Given the description of an element on the screen output the (x, y) to click on. 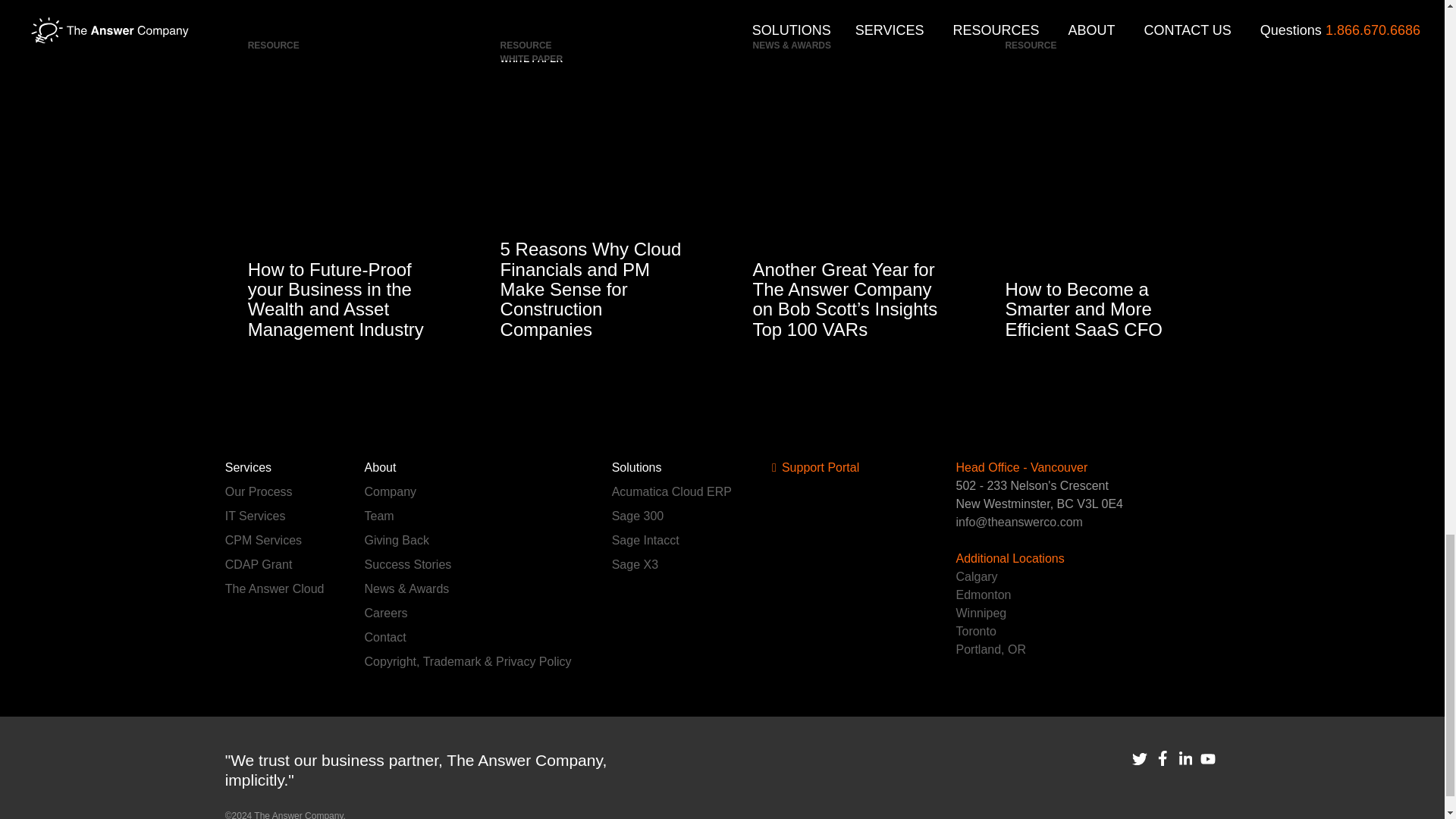
YouTube (1207, 759)
Twitter (1139, 758)
LinkedIn (1184, 758)
Facebook (1162, 758)
